Given the description of an element on the screen output the (x, y) to click on. 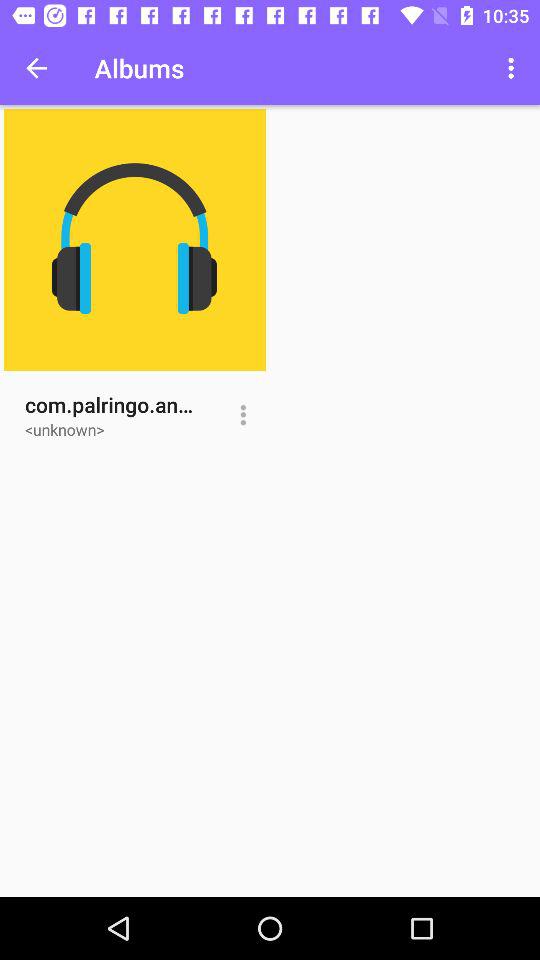
launch item to the right of com.palringo.android icon (242, 415)
